Given the description of an element on the screen output the (x, y) to click on. 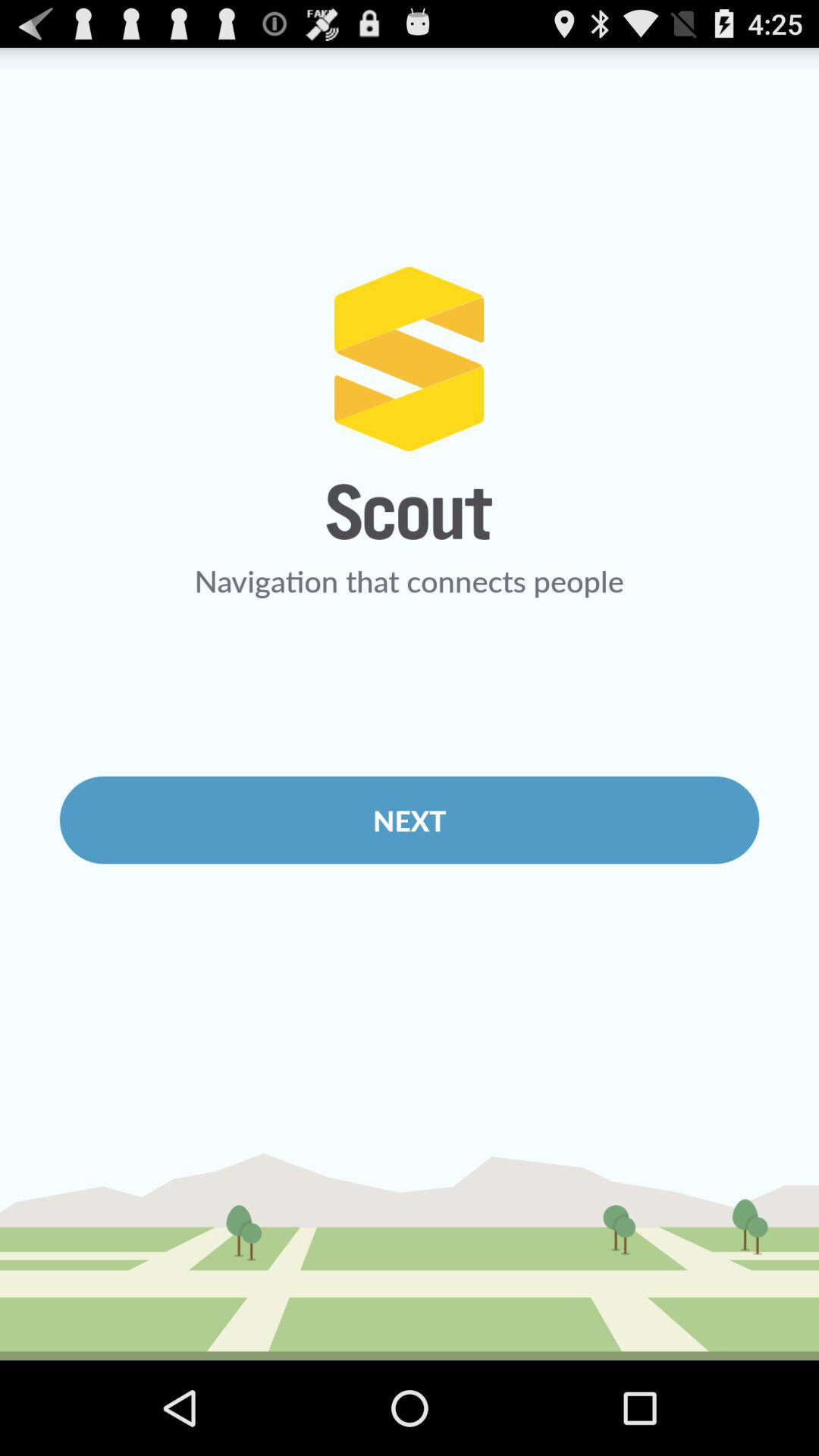
turn off next item (409, 819)
